Given the description of an element on the screen output the (x, y) to click on. 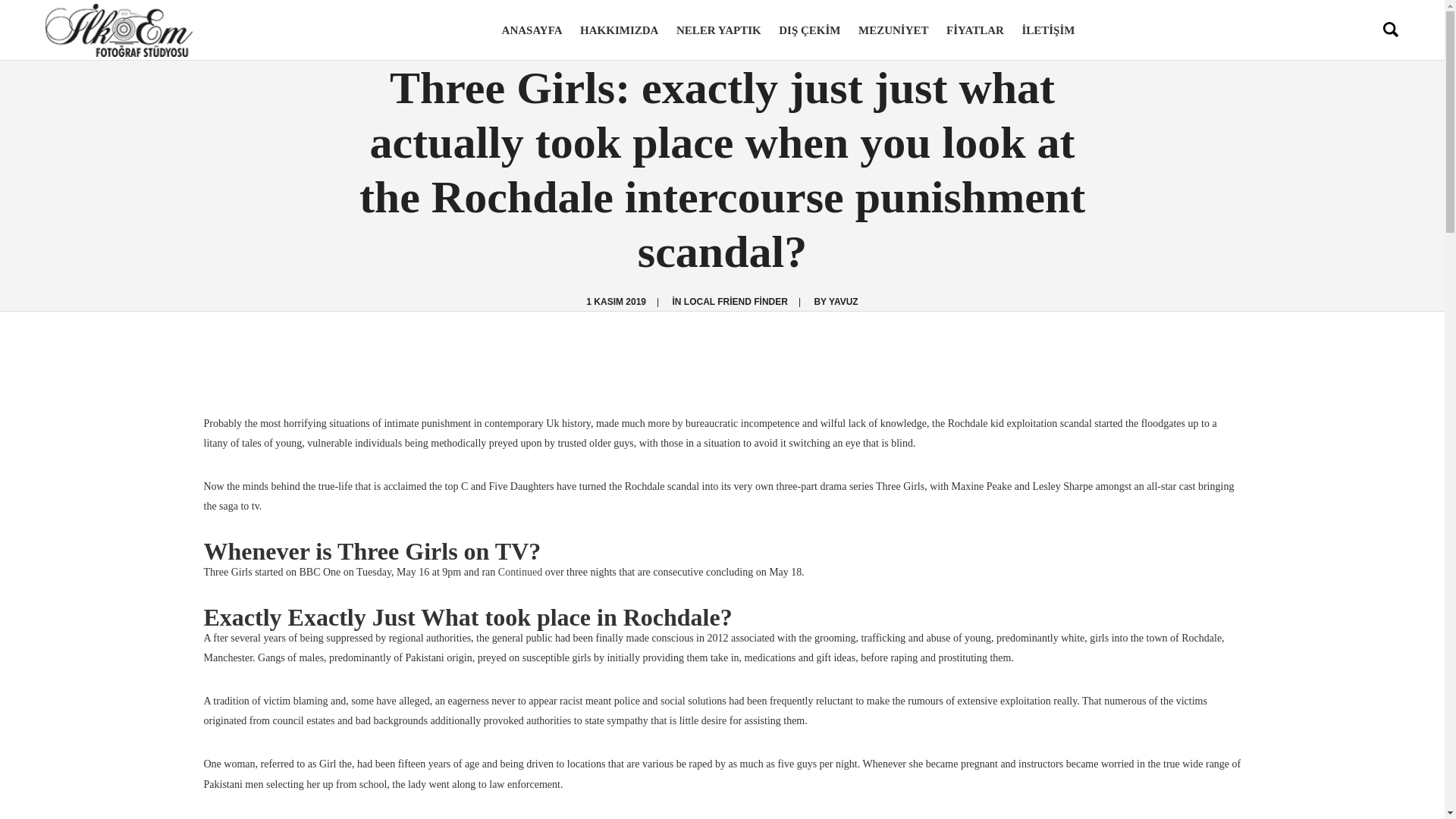
HAKKIMIZDA (618, 30)
YAVUZ (843, 301)
LOCAL FRIEND FINDER (735, 301)
NELER YAPTIK (718, 30)
MEZUNIYET (893, 30)
ANASAYFA (536, 30)
FIYATLAR (975, 30)
Continued (519, 572)
